Given the description of an element on the screen output the (x, y) to click on. 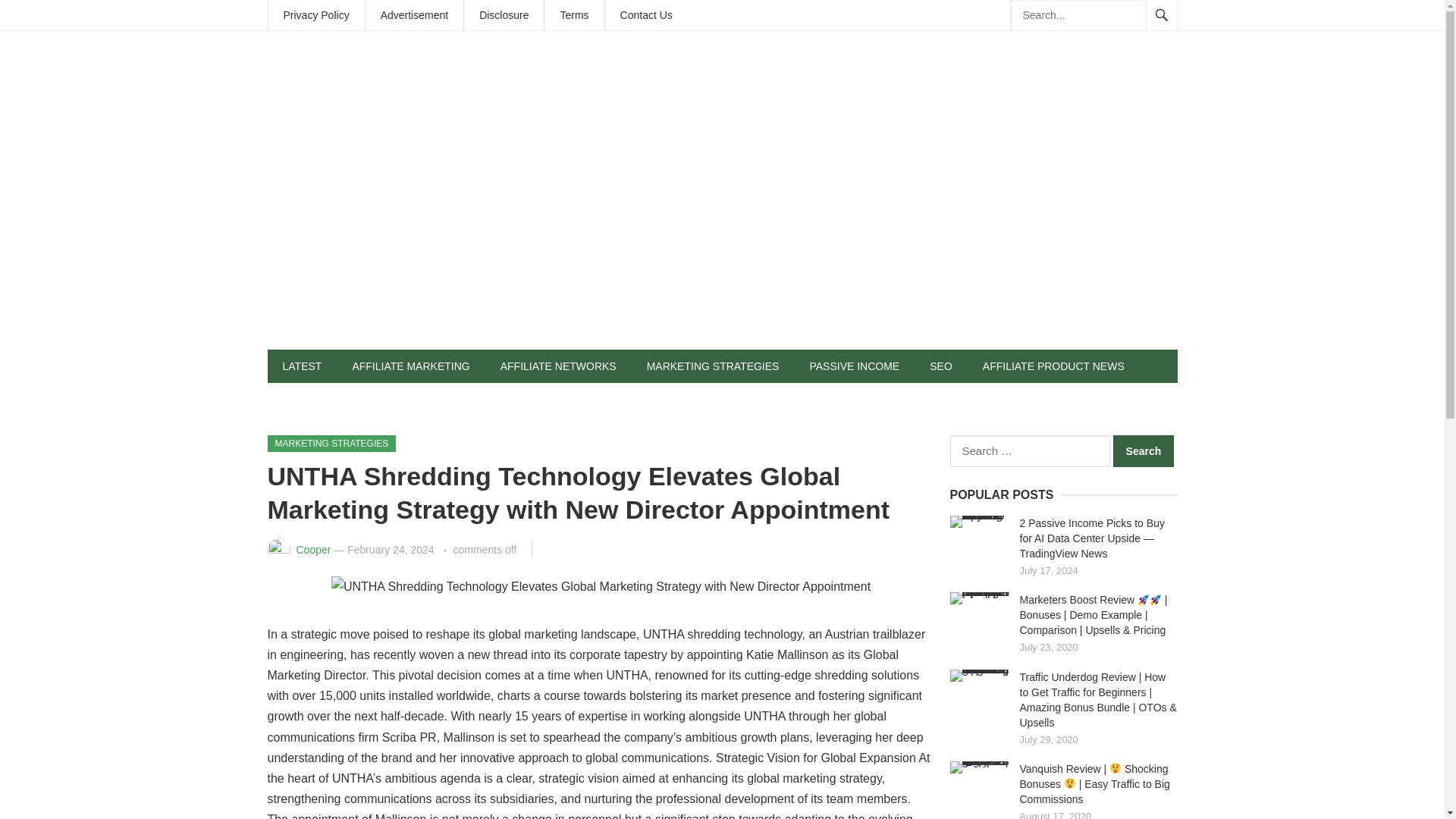
AFFILIATE NETWORKS (557, 366)
Cooper (312, 549)
Advertisement (414, 15)
MARKETING STRATEGIES (712, 366)
Search (1143, 450)
Contact Us (646, 15)
View all posts in Marketing Strategies (331, 443)
SOCIAL MEDIA (319, 399)
Posts by Cooper (312, 549)
SEO (941, 366)
MARKETING STRATEGIES (331, 443)
PASSIVE INCOME (853, 366)
Search (1143, 450)
Terms (574, 15)
